Given the description of an element on the screen output the (x, y) to click on. 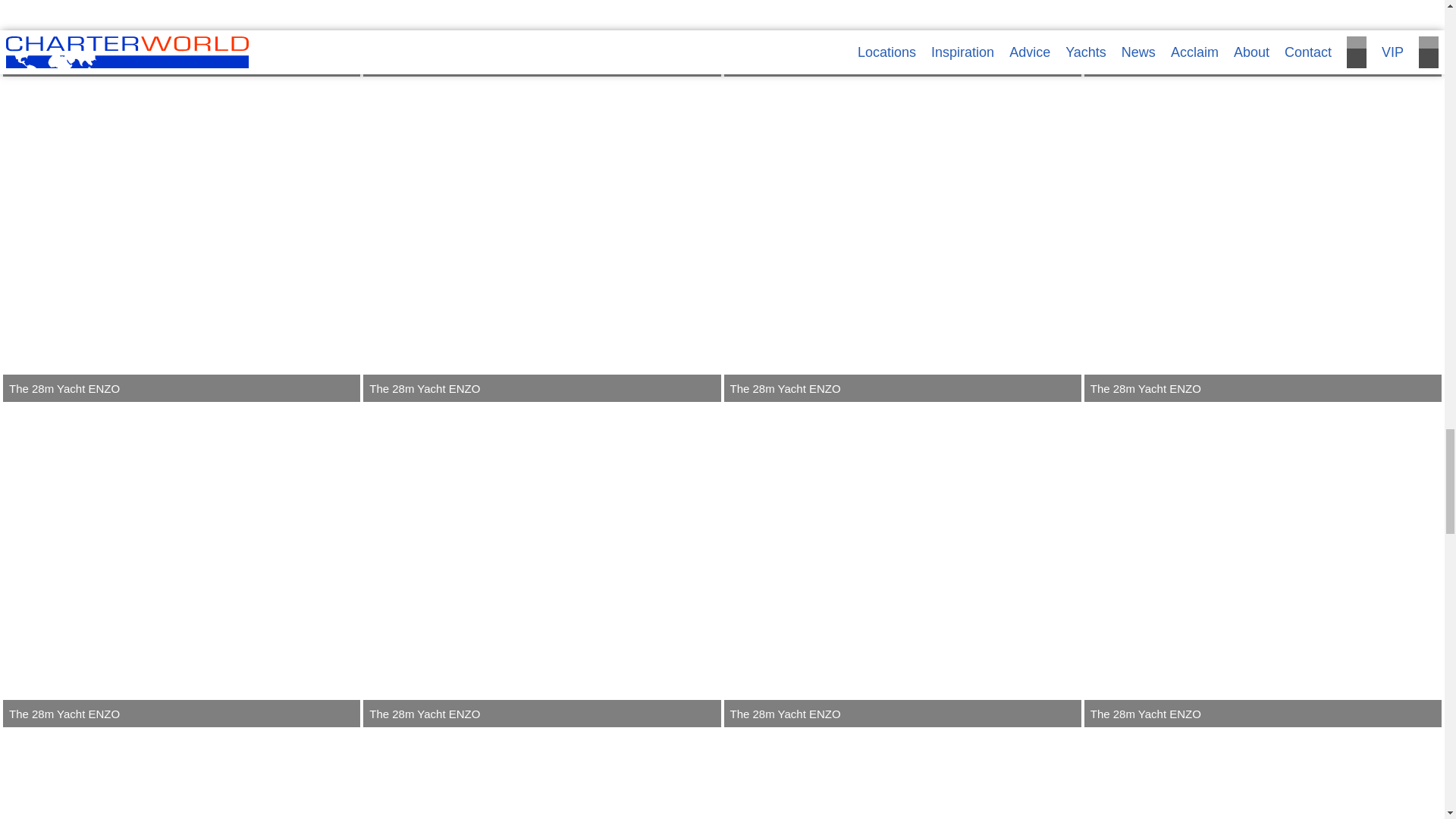
The 28m Yacht ENZO (180, 240)
Motor yacht ENZO -  Layout (901, 38)
Motor yacht ENZO -  On Charter (541, 38)
The 28m Yacht ENZO (1262, 38)
Motor yacht ENZO -  From Above (180, 38)
